Given the description of an element on the screen output the (x, y) to click on. 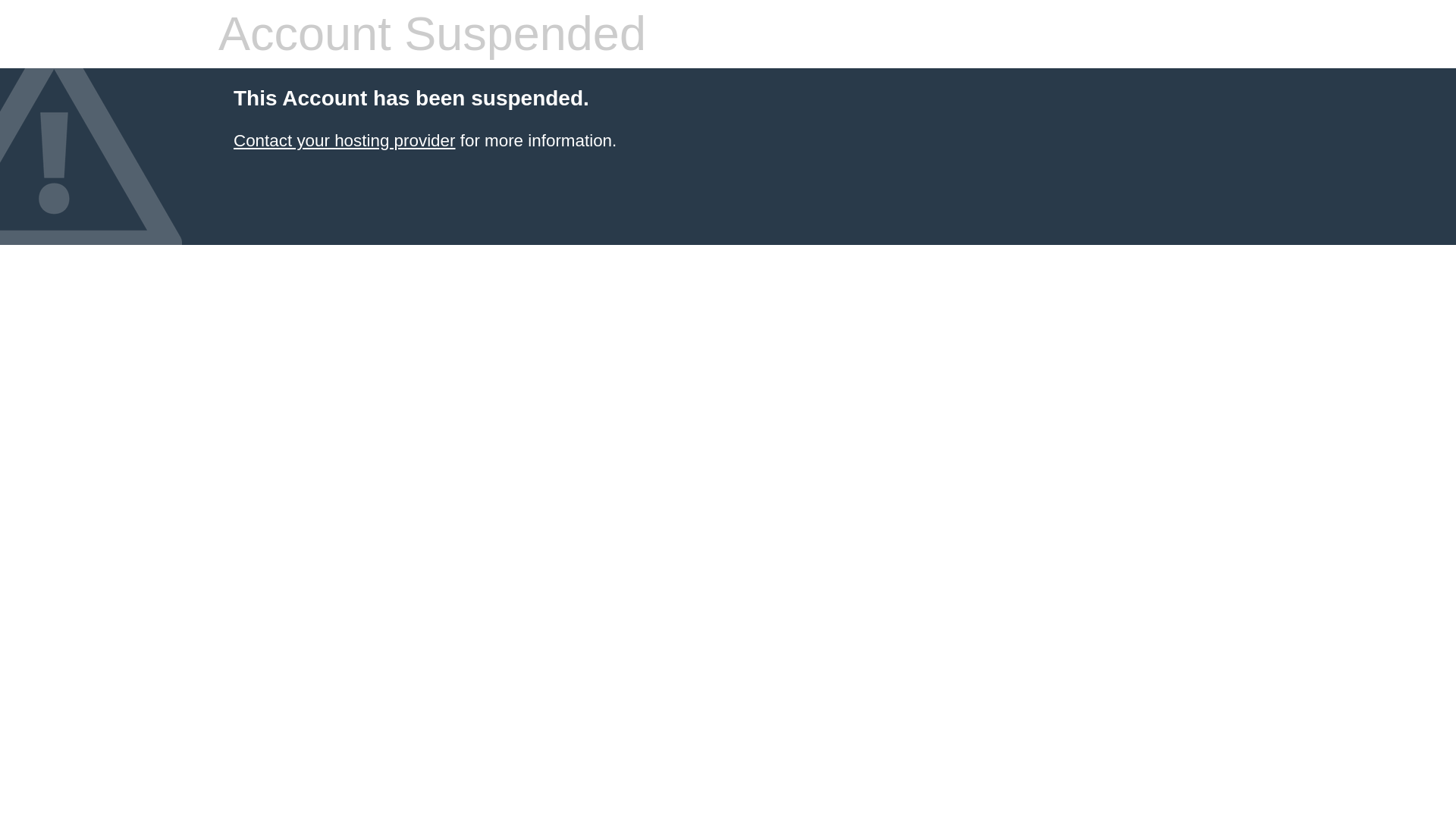
Contact your hosting provider (343, 140)
